Given the description of an element on the screen output the (x, y) to click on. 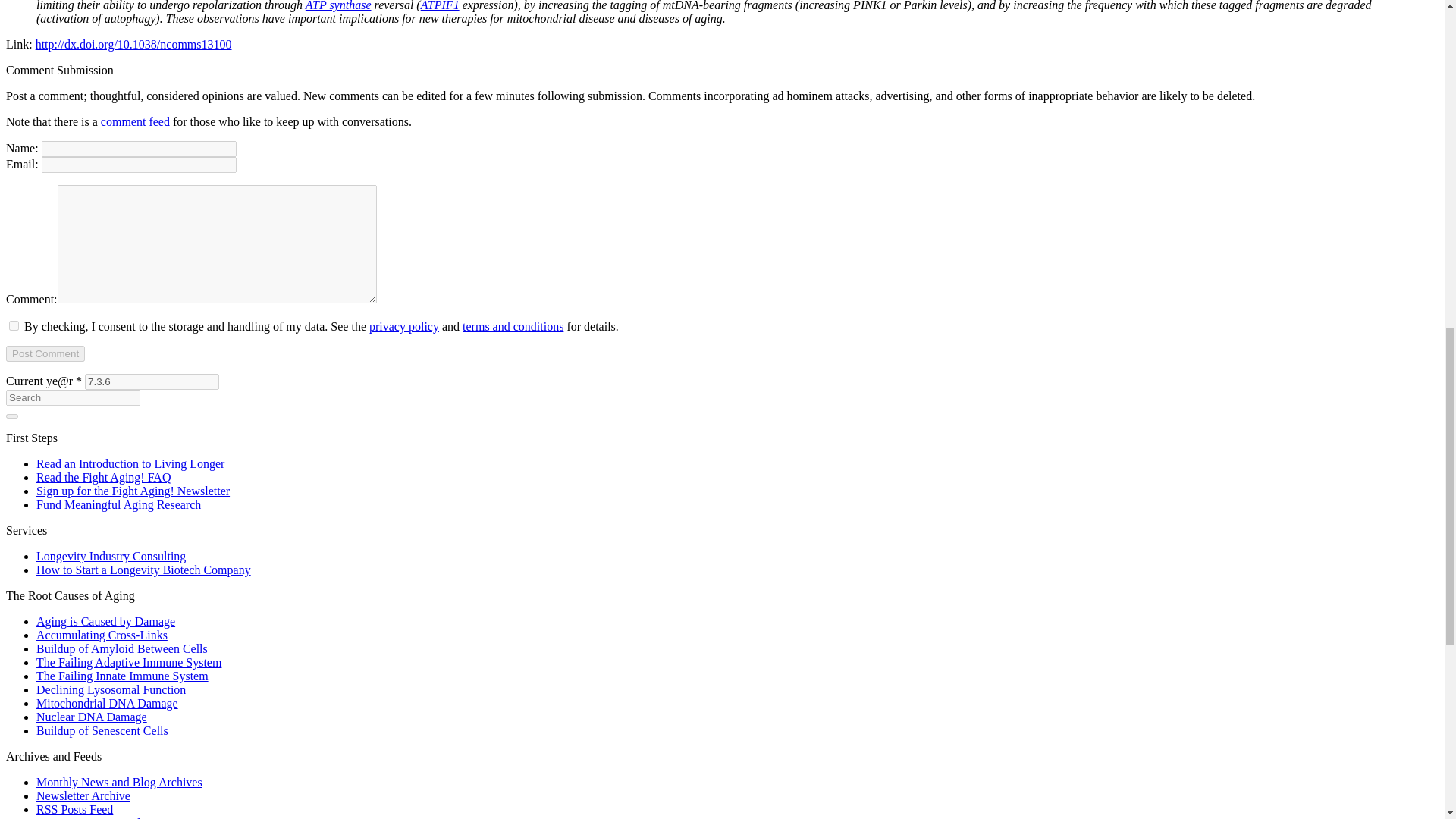
Post Comment (44, 353)
1 (13, 325)
7.3.6 (151, 381)
